Given the description of an element on the screen output the (x, y) to click on. 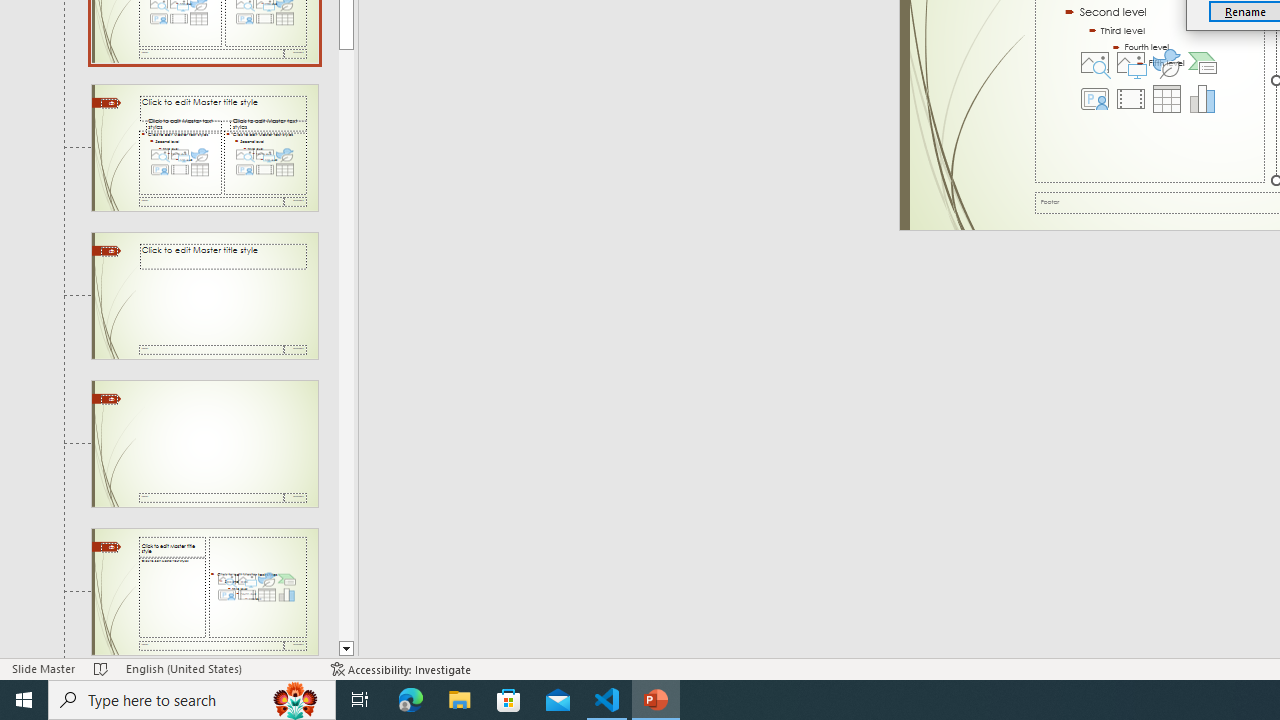
Spelling and Grammar Check Errors (208, 640)
